Given the description of an element on the screen output the (x, y) to click on. 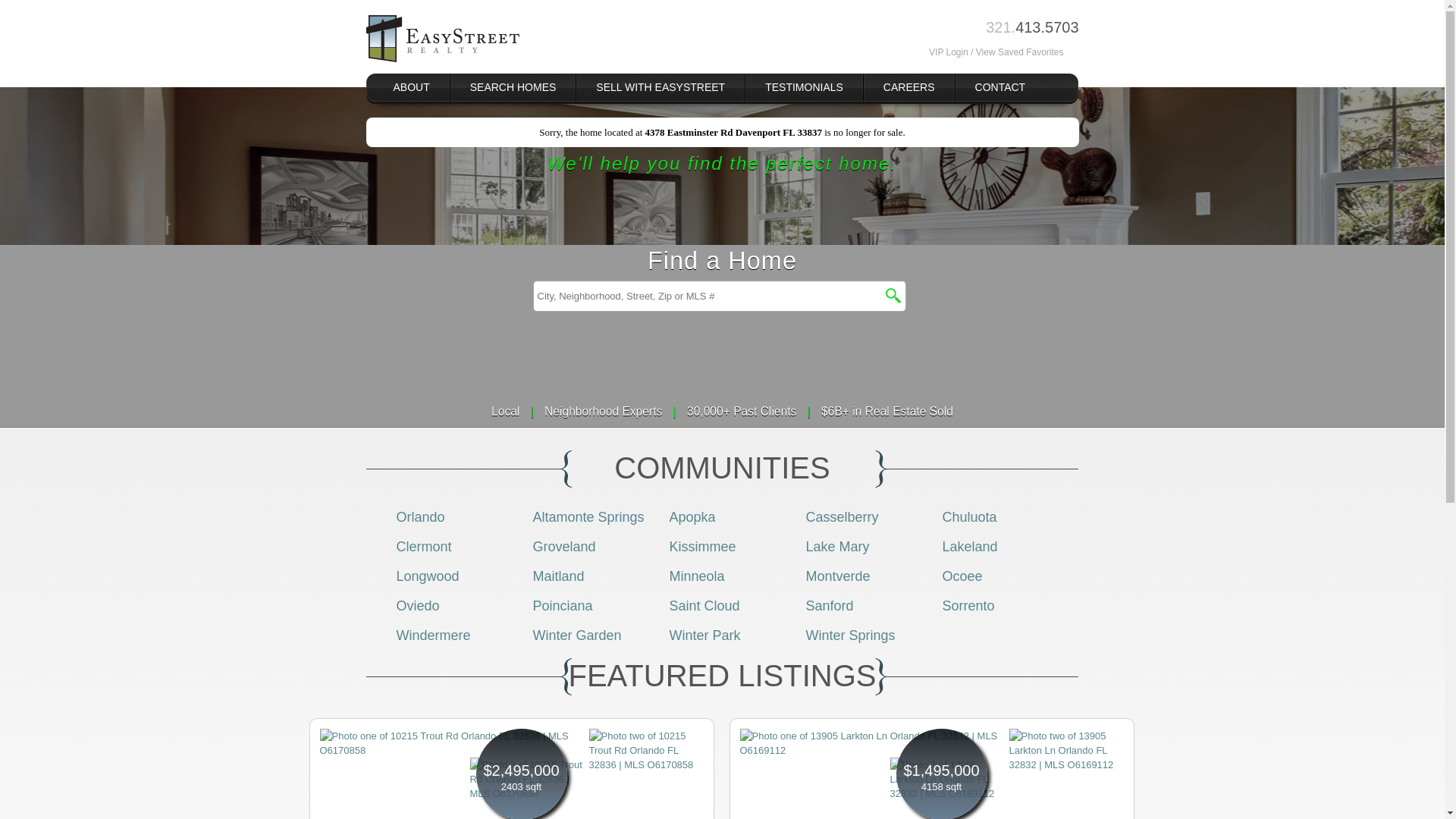
Sorrento (968, 605)
Orlando (420, 516)
Sell with EasyStreet (660, 87)
Maitland (557, 575)
Lake Mary (837, 546)
Search Homes (512, 87)
EasyStreet Realty Orlando (441, 38)
Saint Cloud (703, 605)
View Longwood, FL homes for sale. (427, 575)
Winter Park (703, 635)
Testimonials (804, 87)
Montverde (837, 575)
Contact (1000, 87)
View Apopka, FL homes for sale. (691, 516)
Altamonte Springs (587, 516)
